Given the description of an element on the screen output the (x, y) to click on. 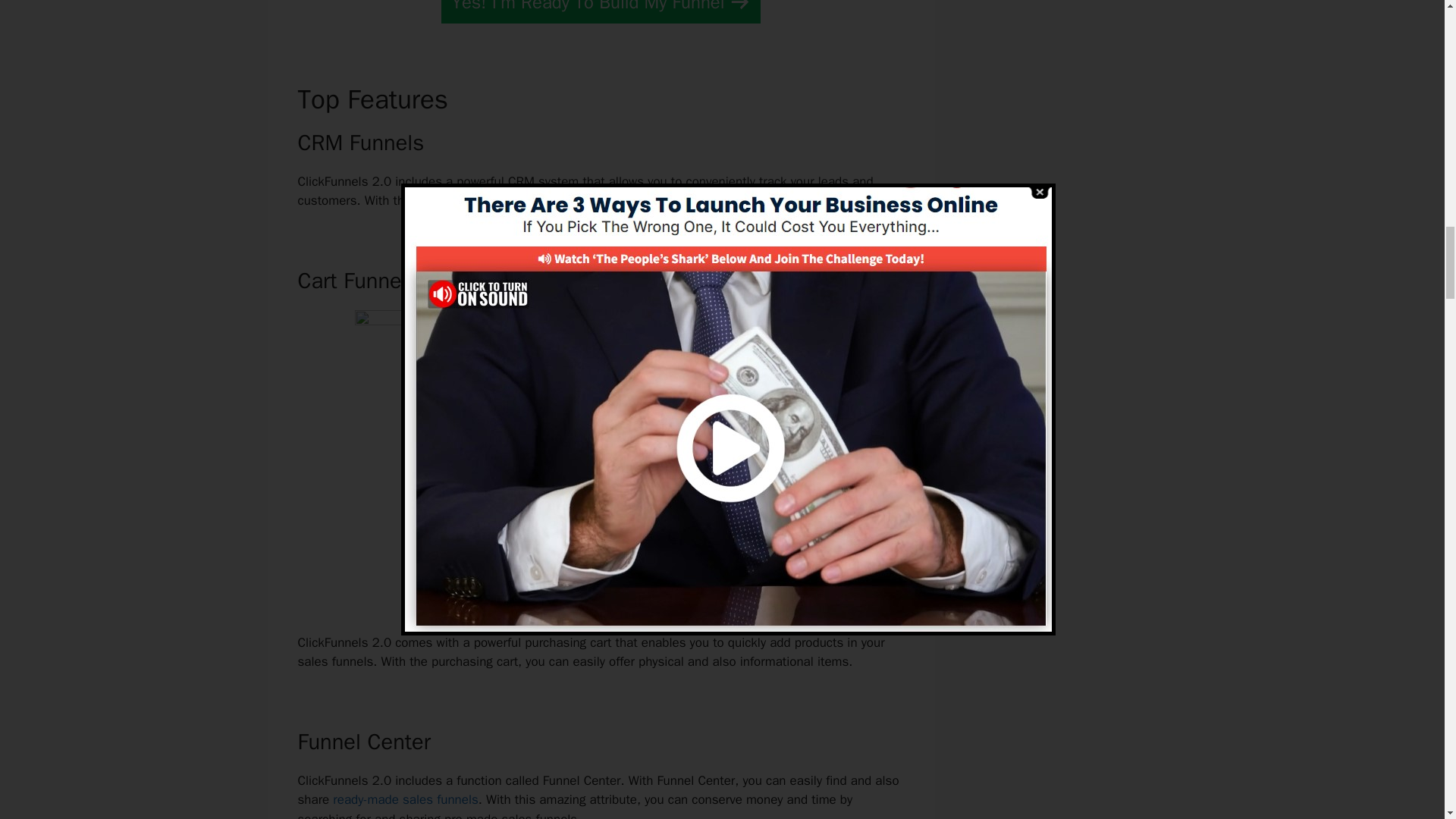
ready-made sales funnels (405, 799)
